Given the description of an element on the screen output the (x, y) to click on. 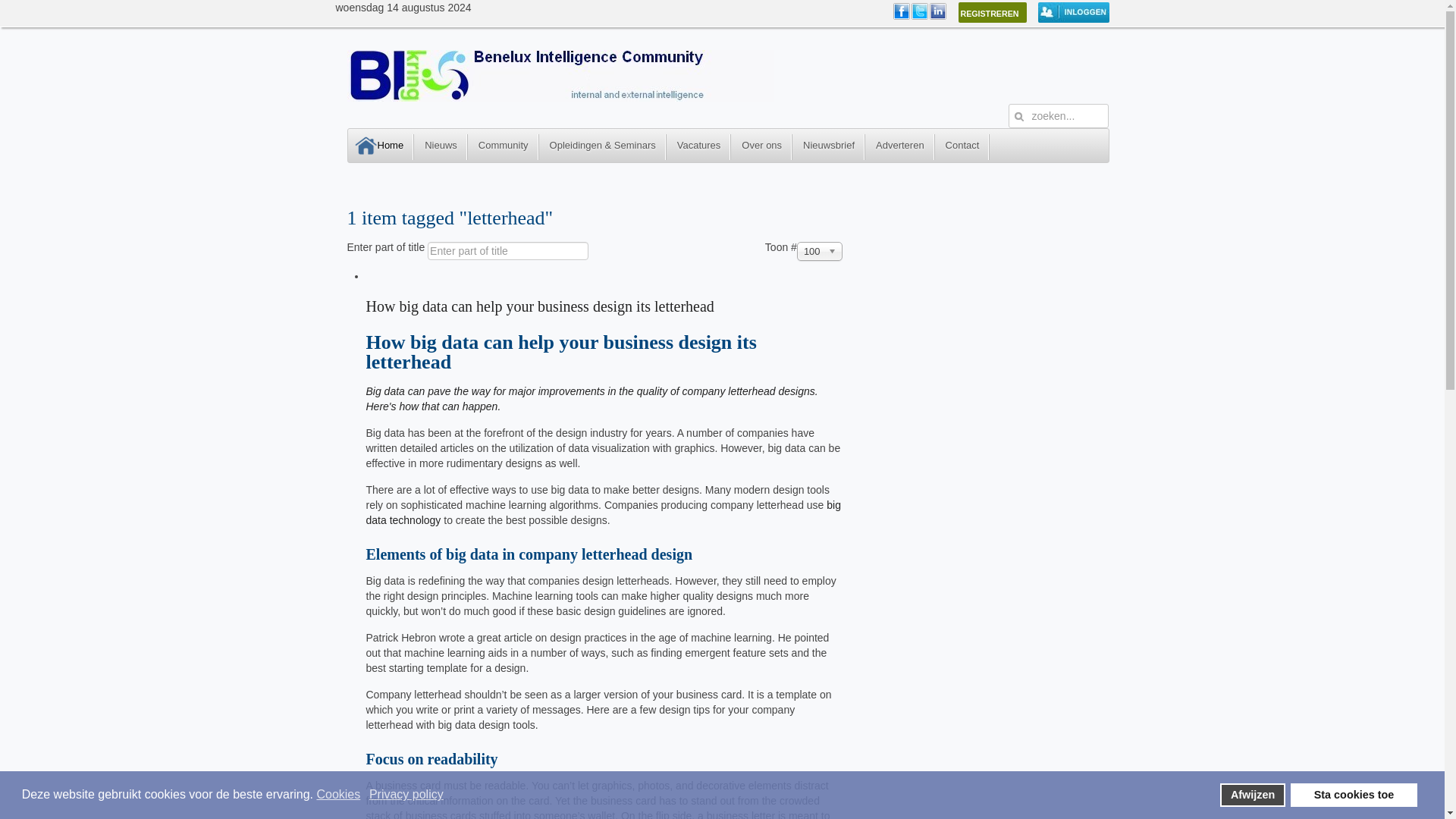
Home (560, 97)
Afwijzen (1252, 794)
Home (380, 145)
Over ons (761, 145)
Vacatures (699, 145)
Cookies (338, 794)
Community (502, 145)
 REGISTREREN (992, 12)
Enter all or part of the title to search for (508, 250)
Privacy policy (407, 794)
